Given the description of an element on the screen output the (x, y) to click on. 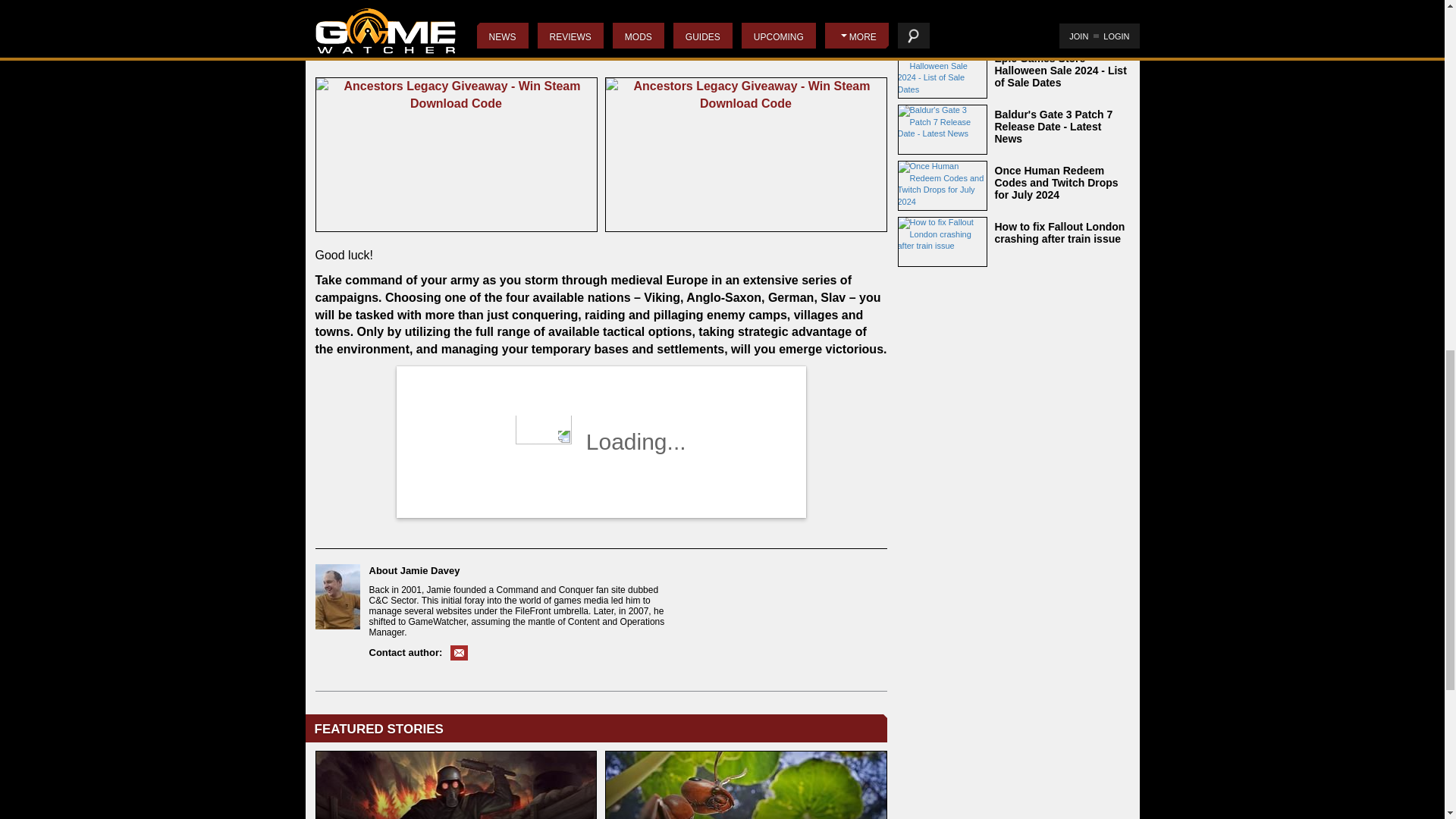
Conscript Review (455, 785)
